Given the description of an element on the screen output the (x, y) to click on. 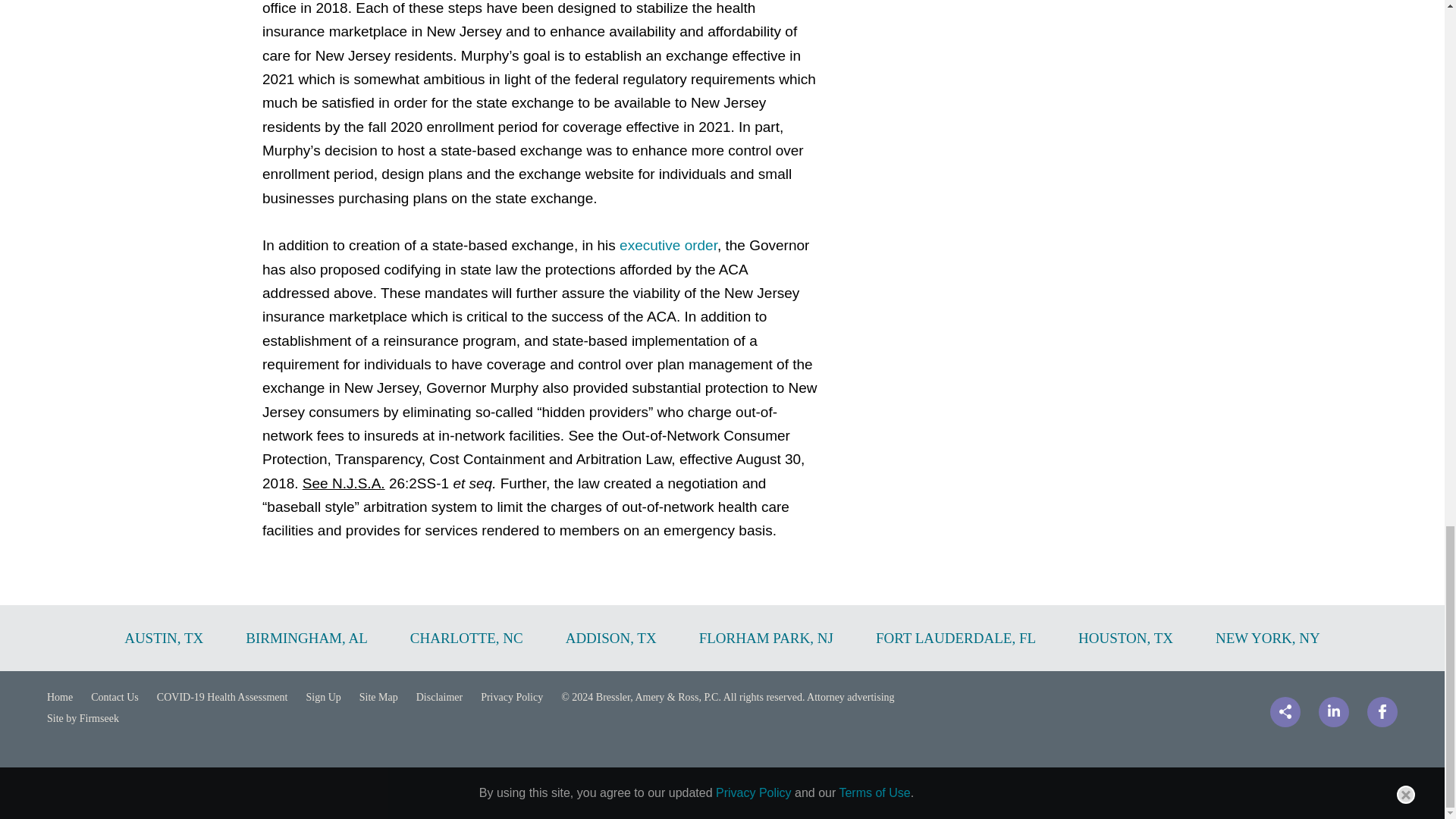
executive order (668, 245)
Share (1284, 711)
